Given the description of an element on the screen output the (x, y) to click on. 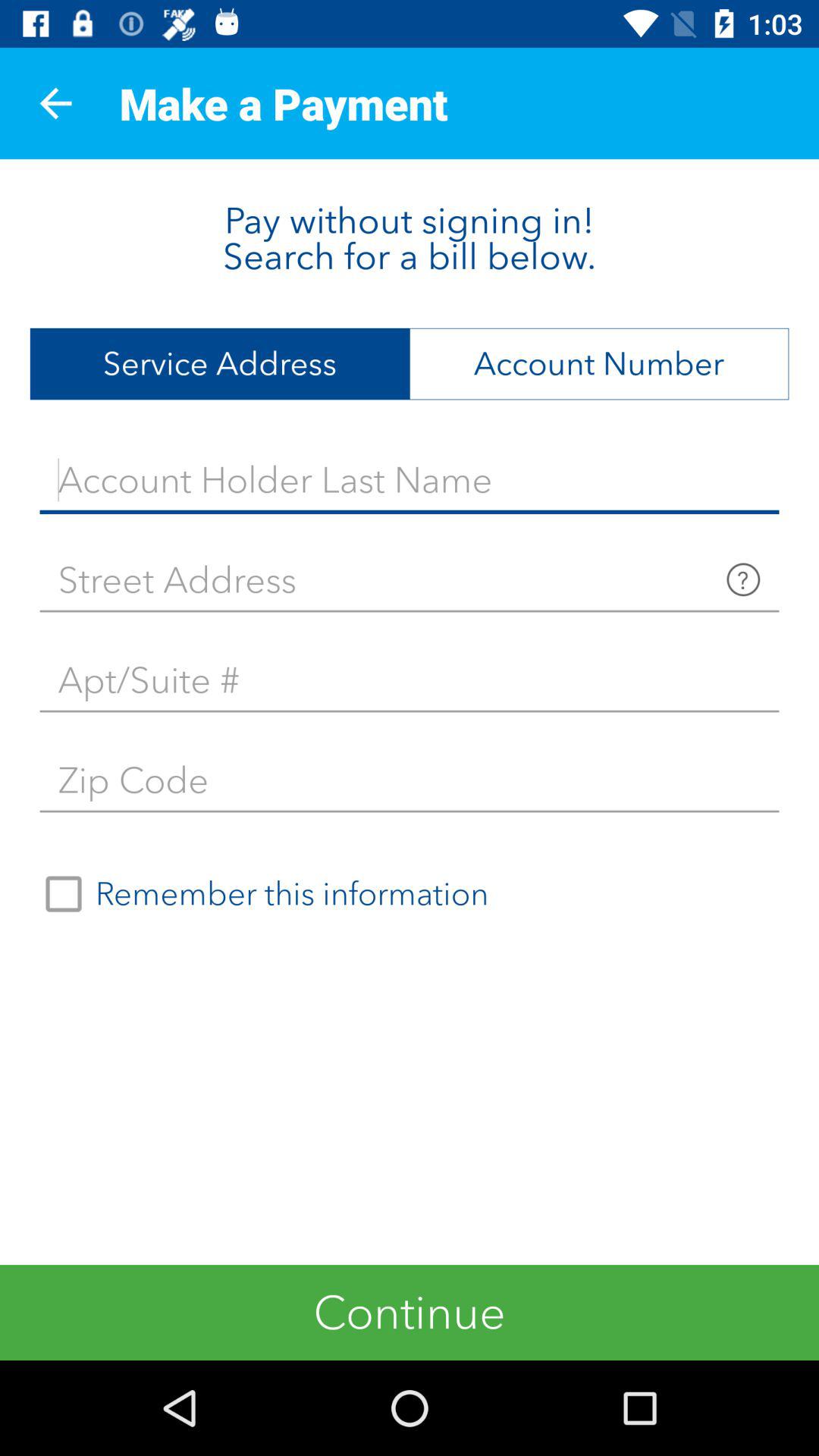
flip to the service address icon (219, 363)
